Given the description of an element on the screen output the (x, y) to click on. 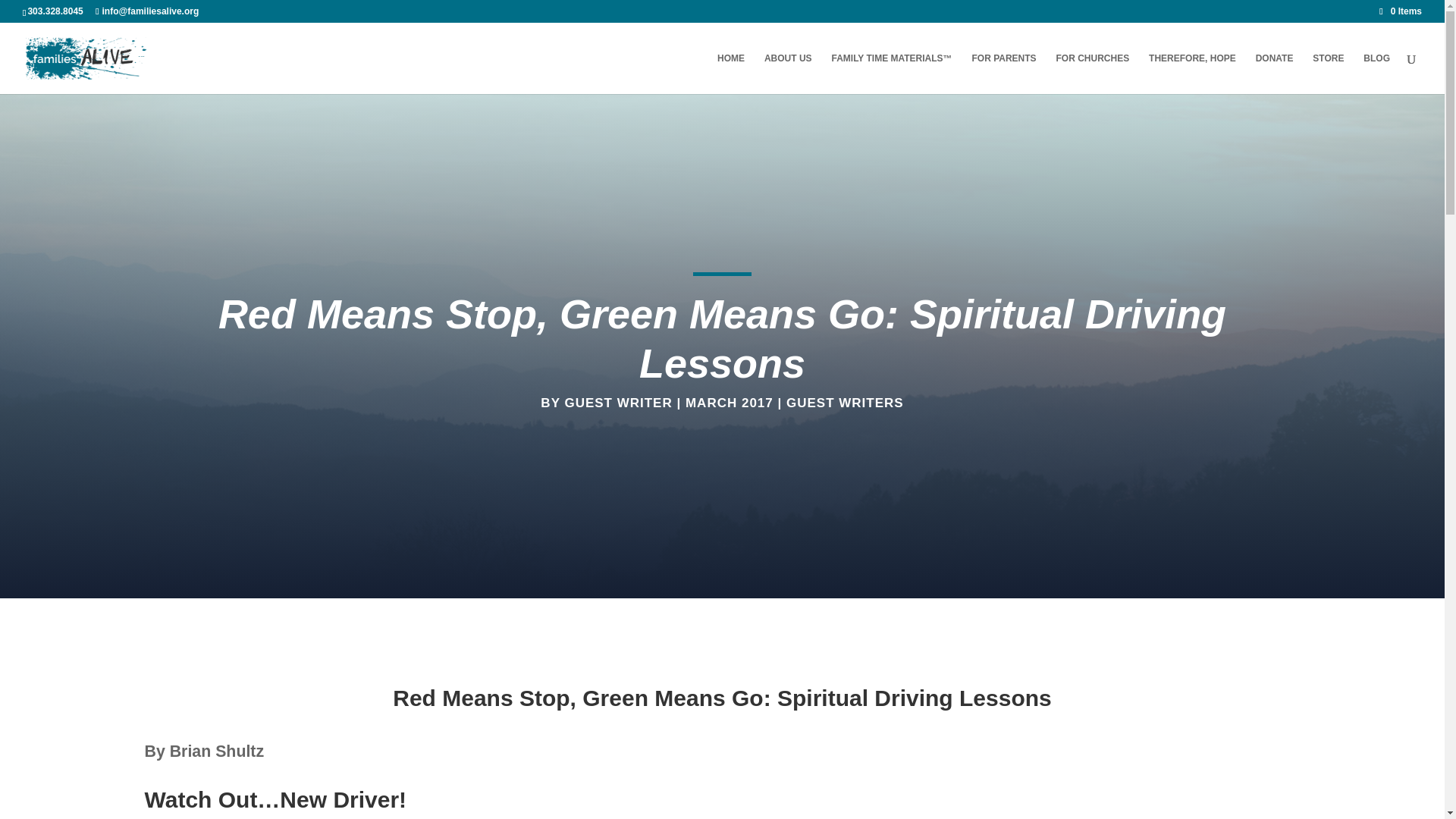
GUEST WRITER (617, 402)
FOR PARENTS (1003, 73)
GUEST WRITERS (845, 402)
ABOUT US (788, 73)
DONATE (1274, 73)
THEREFORE, HOPE (1192, 73)
Posts by Guest Writer (617, 402)
0 Items (1400, 10)
FOR CHURCHES (1092, 73)
